Given the description of an element on the screen output the (x, y) to click on. 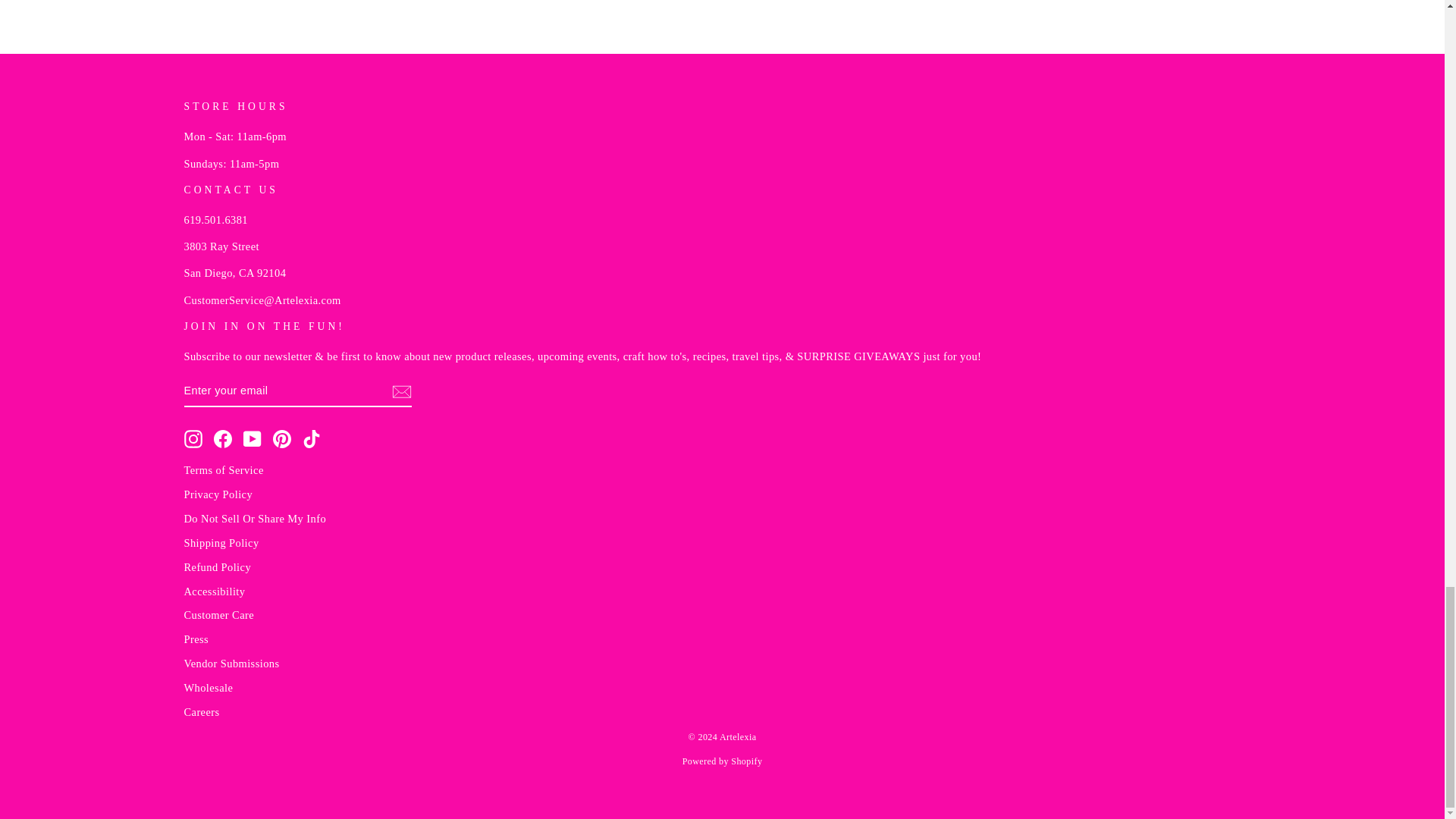
Artelexia on YouTube (251, 438)
Artelexia on Instagram (192, 438)
Artelexia on TikTok (310, 438)
Artelexia on Facebook (222, 438)
Artelexia on Pinterest (282, 438)
